Given the description of an element on the screen output the (x, y) to click on. 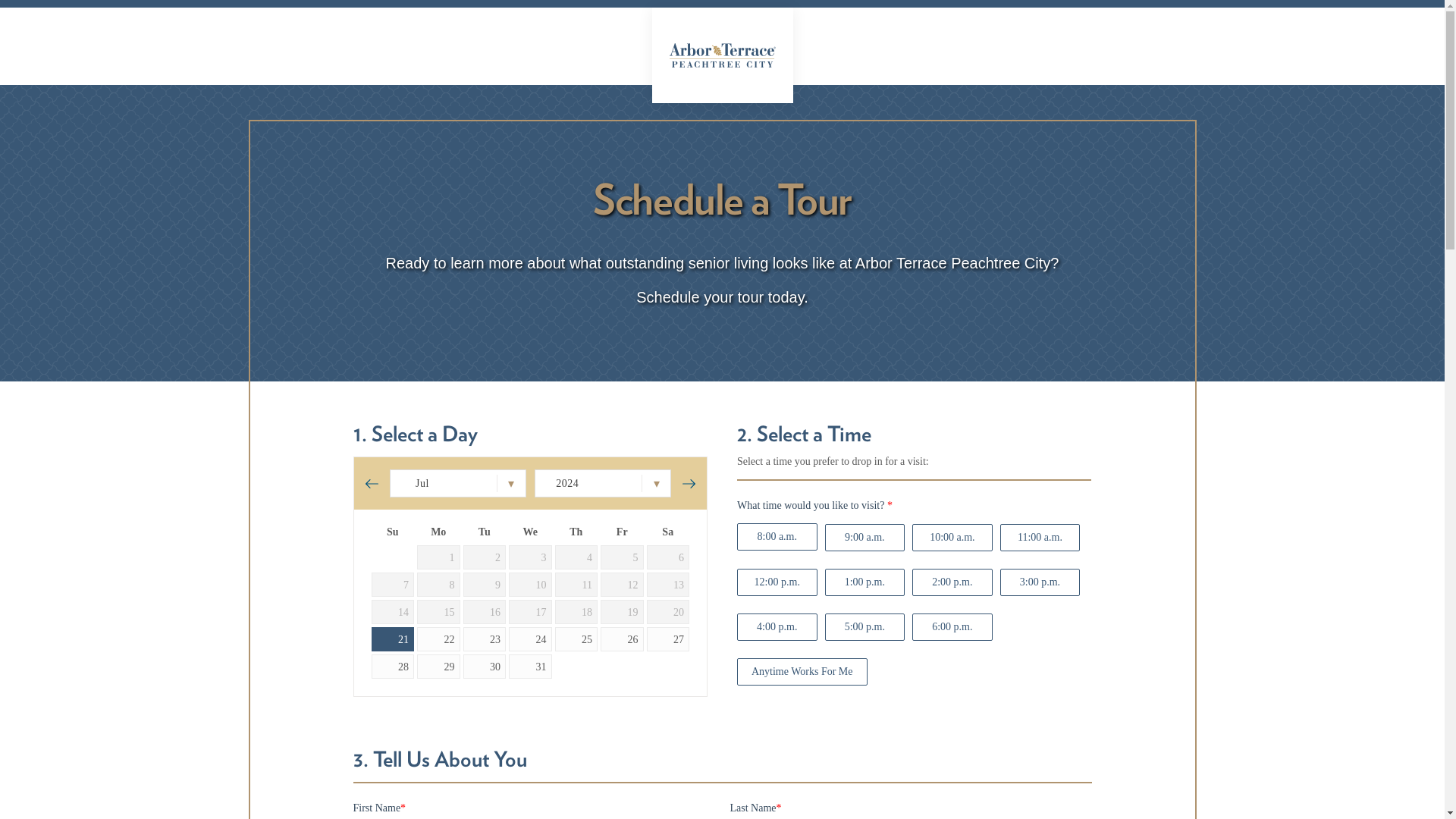
29 (438, 666)
30 (484, 666)
27 (667, 639)
Saturday (667, 531)
23 (484, 639)
Tuesday (484, 531)
28 (392, 666)
Prev (371, 483)
Monday (437, 531)
Thursday (575, 531)
Next (688, 483)
22 (438, 639)
Sunday (392, 531)
31 (529, 666)
25 (576, 639)
